Given the description of an element on the screen output the (x, y) to click on. 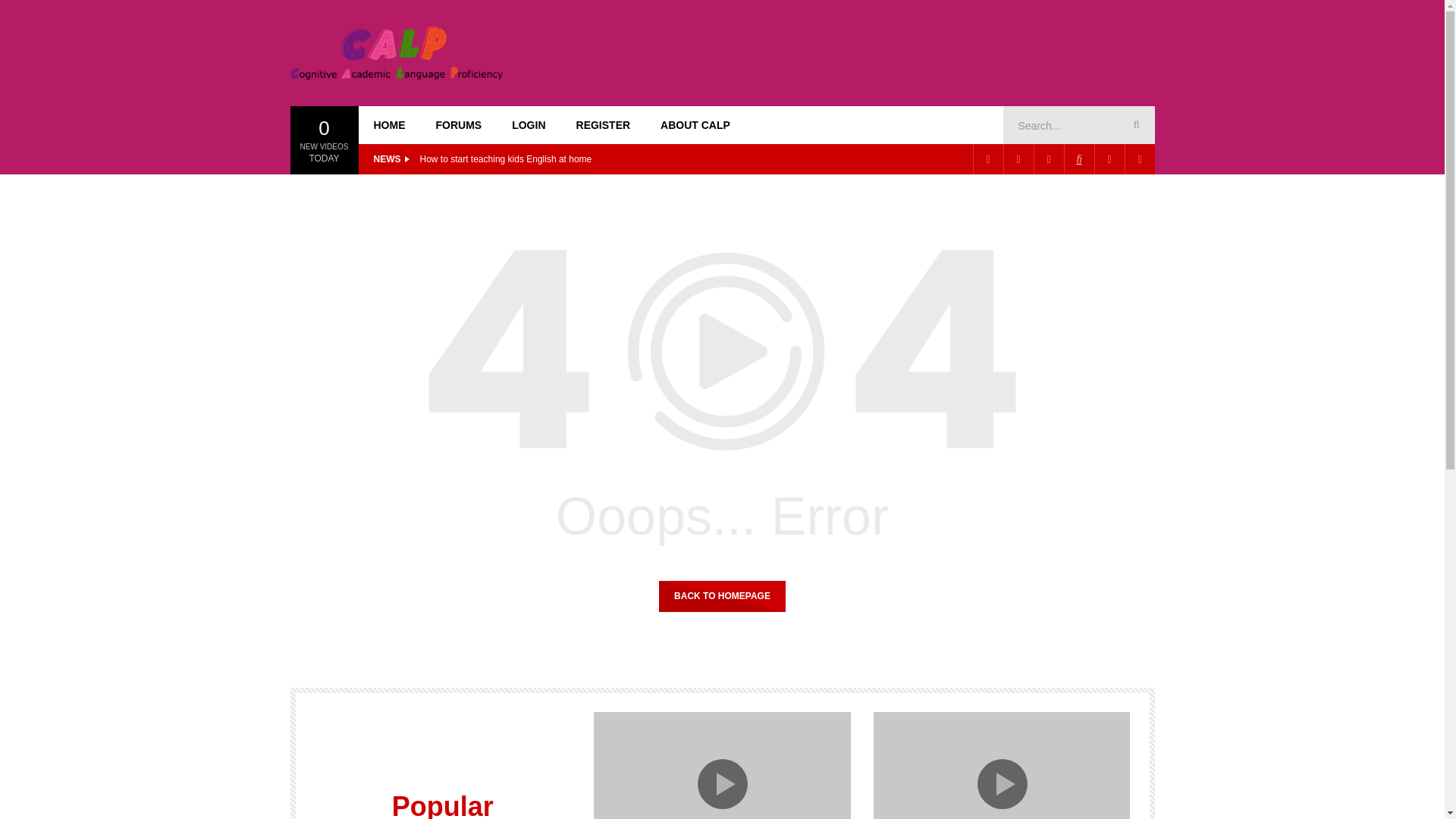
ABOUT CALP (695, 125)
Watch later (1108, 159)
Pinterest (1017, 159)
HOME (389, 125)
Search (1133, 125)
LOGIN (528, 125)
REGISTER (603, 125)
CALP Training (395, 52)
Facebook (987, 159)
BACK TO HOMEPAGE (722, 595)
